Given the description of an element on the screen output the (x, y) to click on. 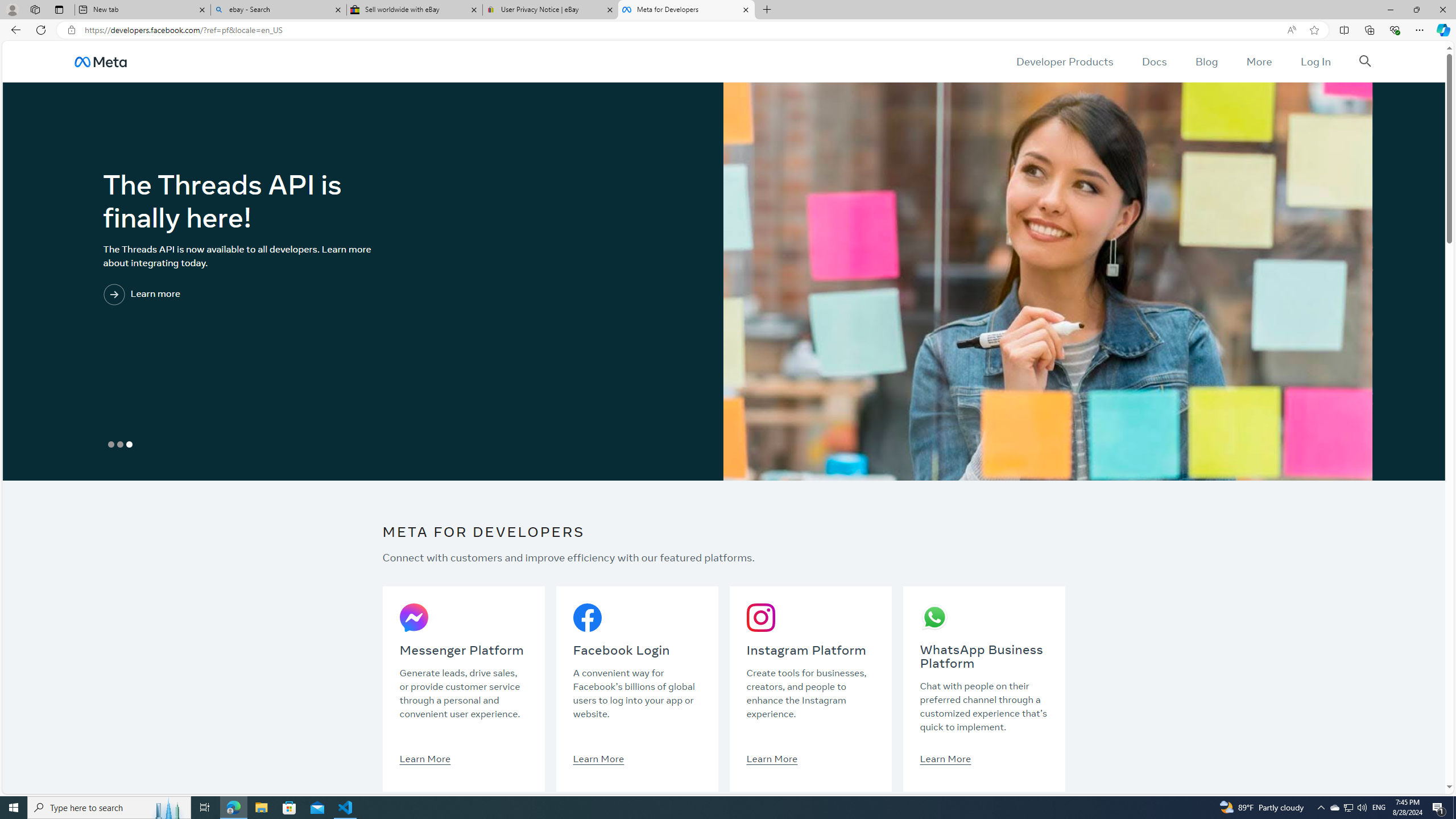
Blog (1205, 61)
More (1259, 61)
AutomationID: u_0_25_3H (100, 61)
Learn More (945, 758)
Meta for Developers (685, 9)
Show Slide 1 (111, 444)
ebay - Search (277, 9)
Log In (1315, 61)
Developer Products (1064, 61)
